Given the description of an element on the screen output the (x, y) to click on. 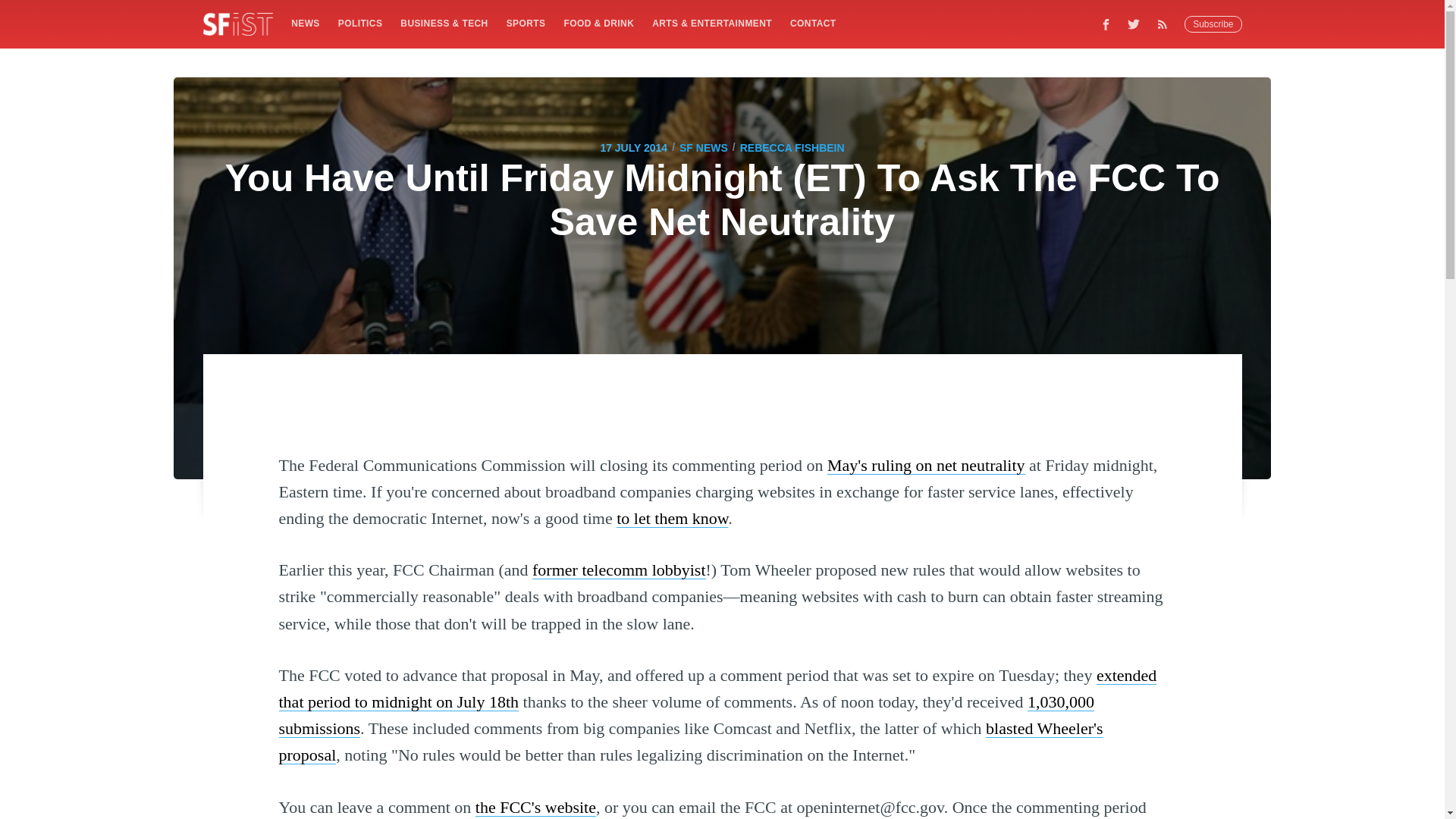
1,030,000 submissions (686, 714)
NEWS (305, 23)
SPORTS (525, 23)
RSS (1166, 23)
Twitter (1133, 23)
Facebook (1106, 23)
REBECCA FISHBEIN (791, 147)
May's ruling on net neutrality (926, 465)
blasted Wheeler's proposal (691, 741)
CONTACT (812, 23)
